Given the description of an element on the screen output the (x, y) to click on. 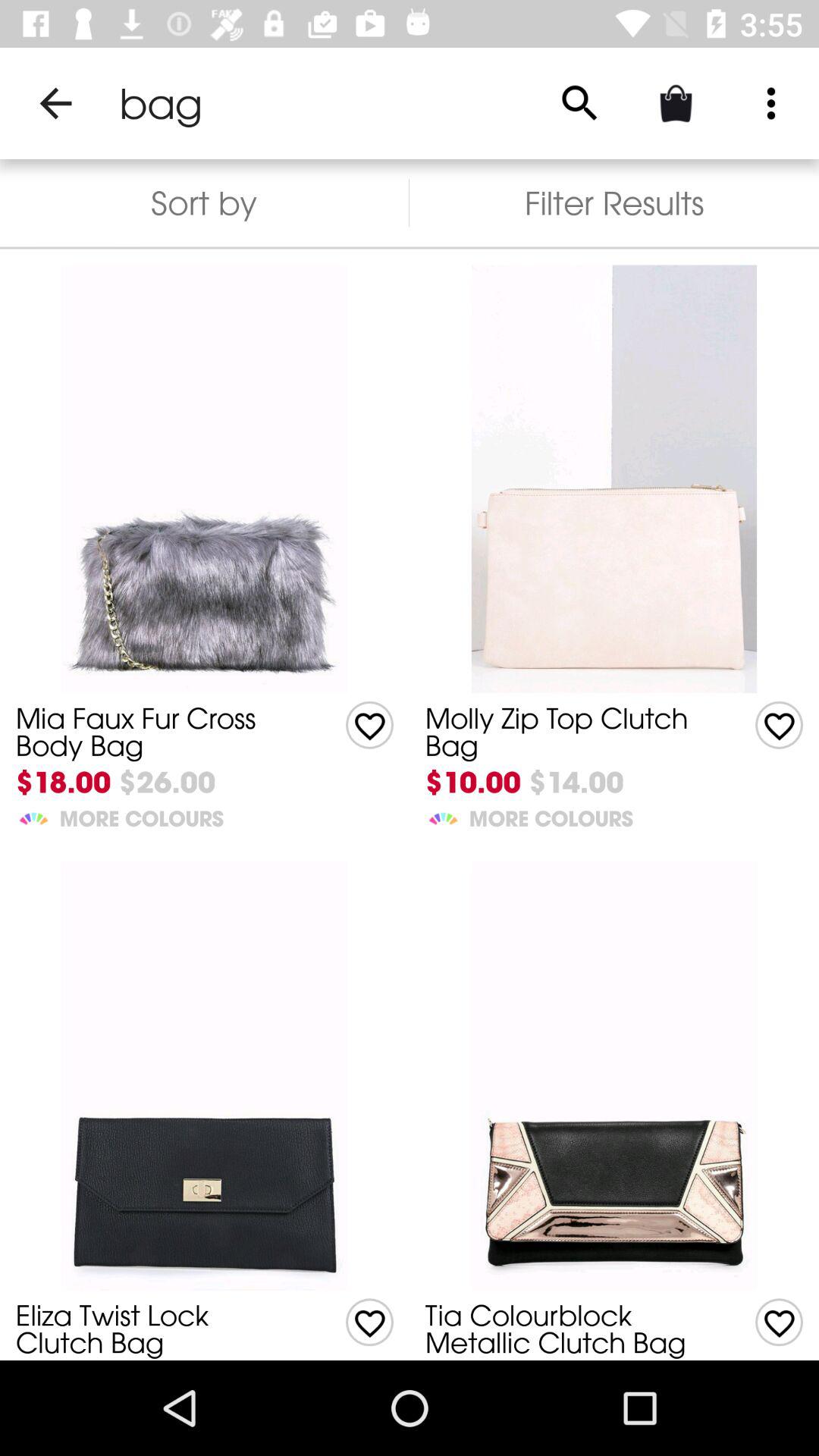
select the icon above the $10.00 icon (566, 731)
